Given the description of an element on the screen output the (x, y) to click on. 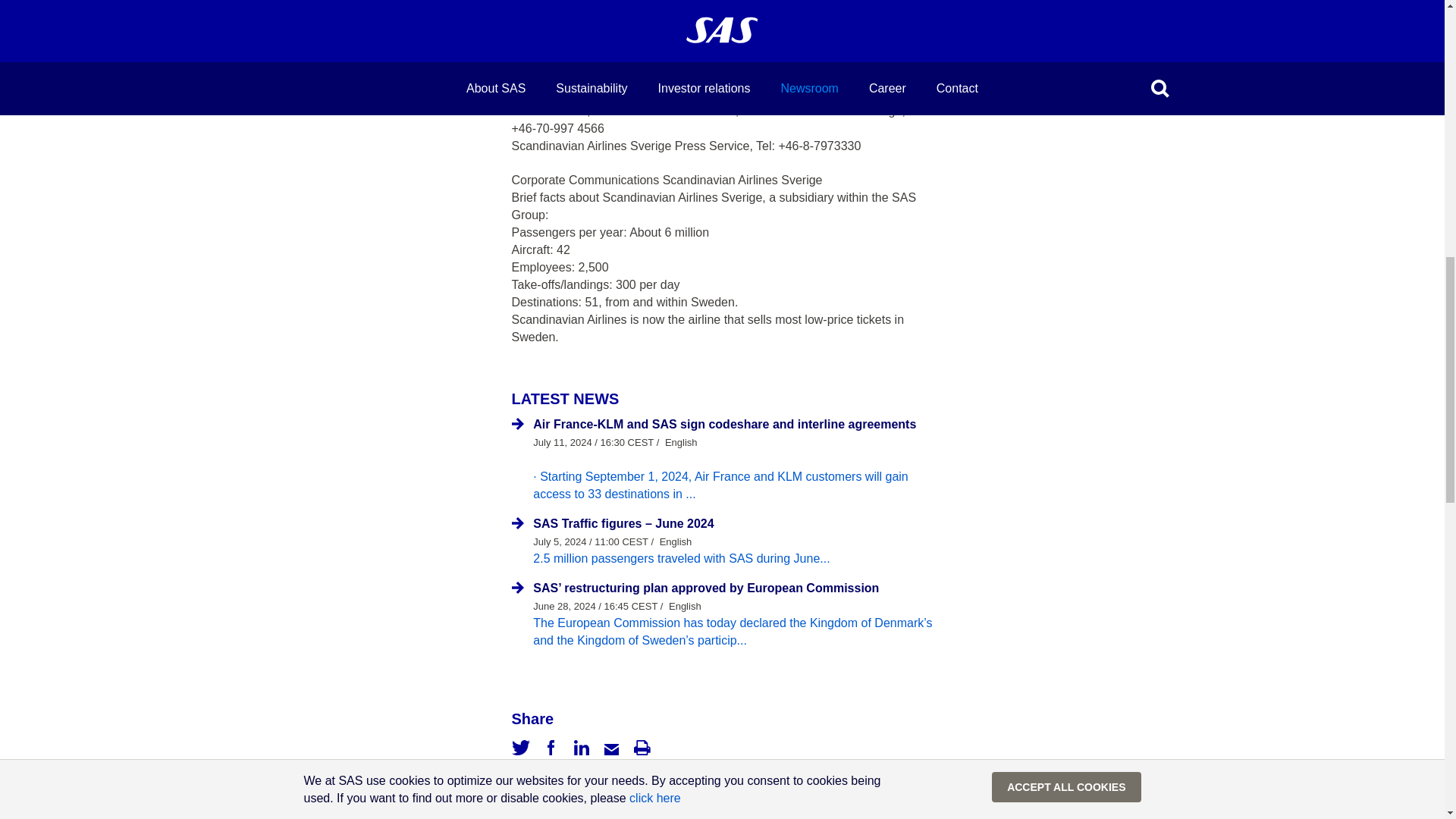
Print (640, 747)
Twitter (520, 747)
LinkedIn (580, 747)
E-mail (611, 747)
Facebook (550, 747)
